Given the description of an element on the screen output the (x, y) to click on. 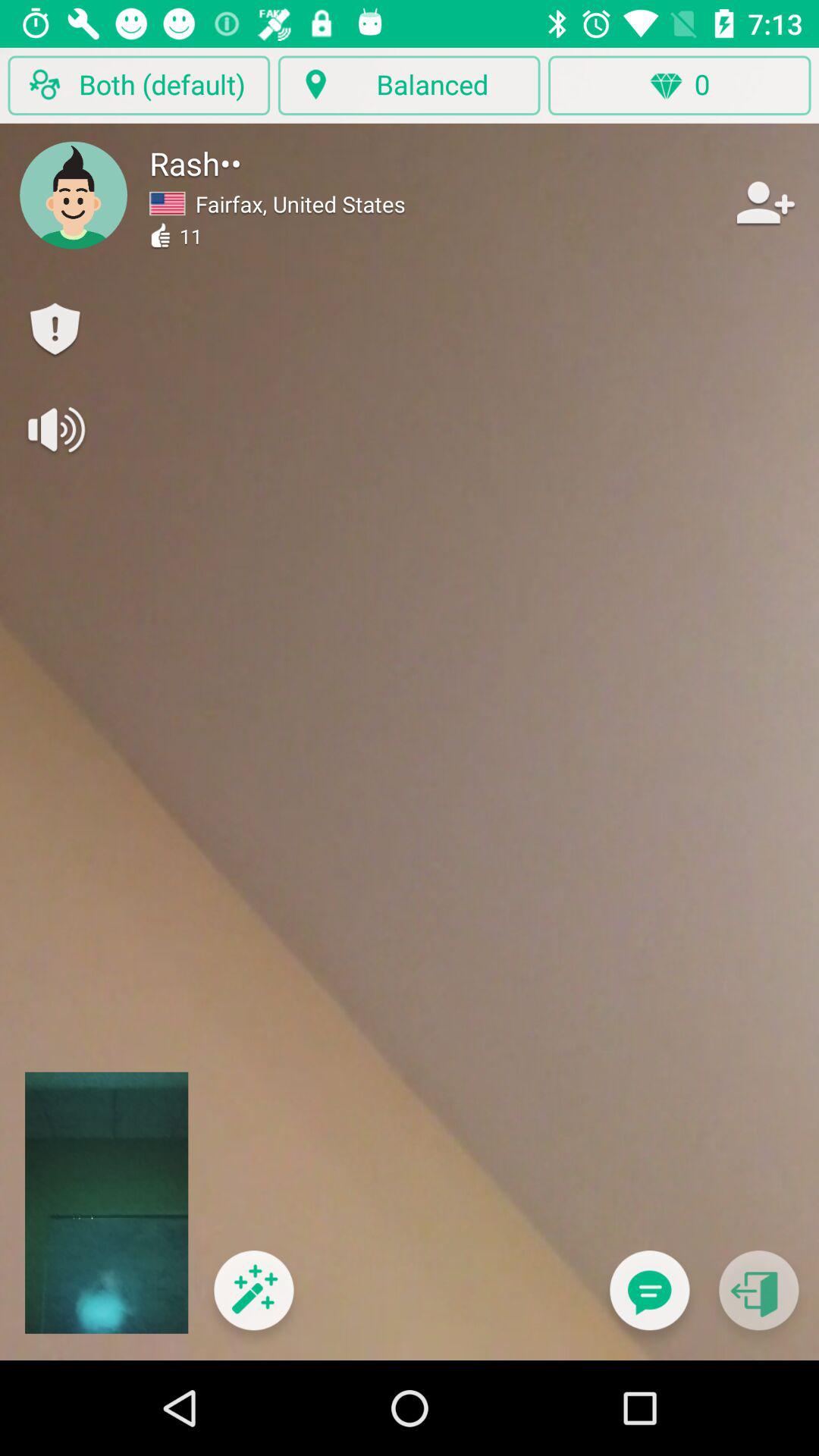
chat option (649, 1300)
